Given the description of an element on the screen output the (x, y) to click on. 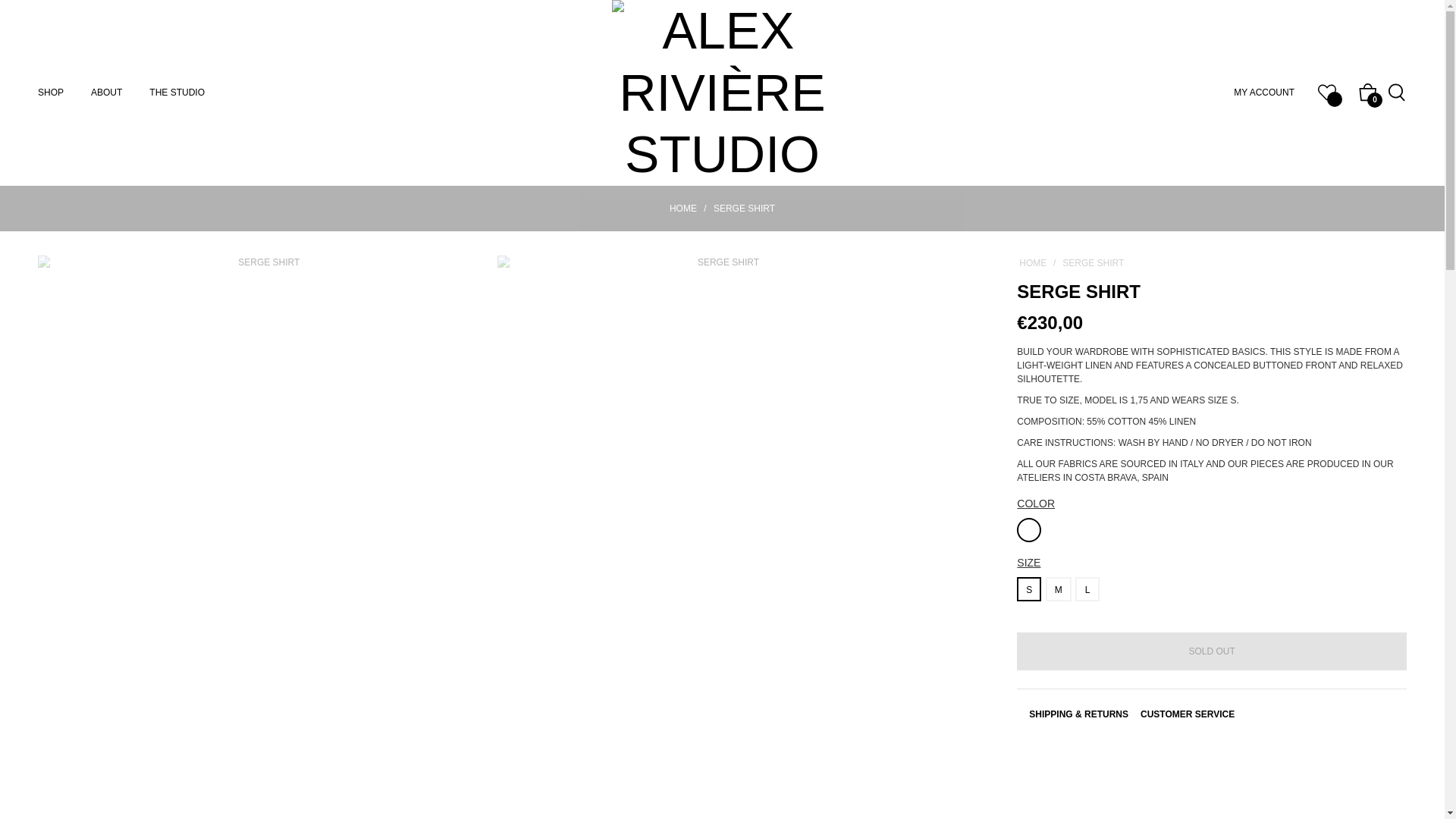
Shopping Cart (1367, 92)
ABOUT (106, 92)
Home (682, 208)
THE STUDIO (176, 92)
Wishlist (1327, 92)
Home (1032, 263)
